Given the description of an element on the screen output the (x, y) to click on. 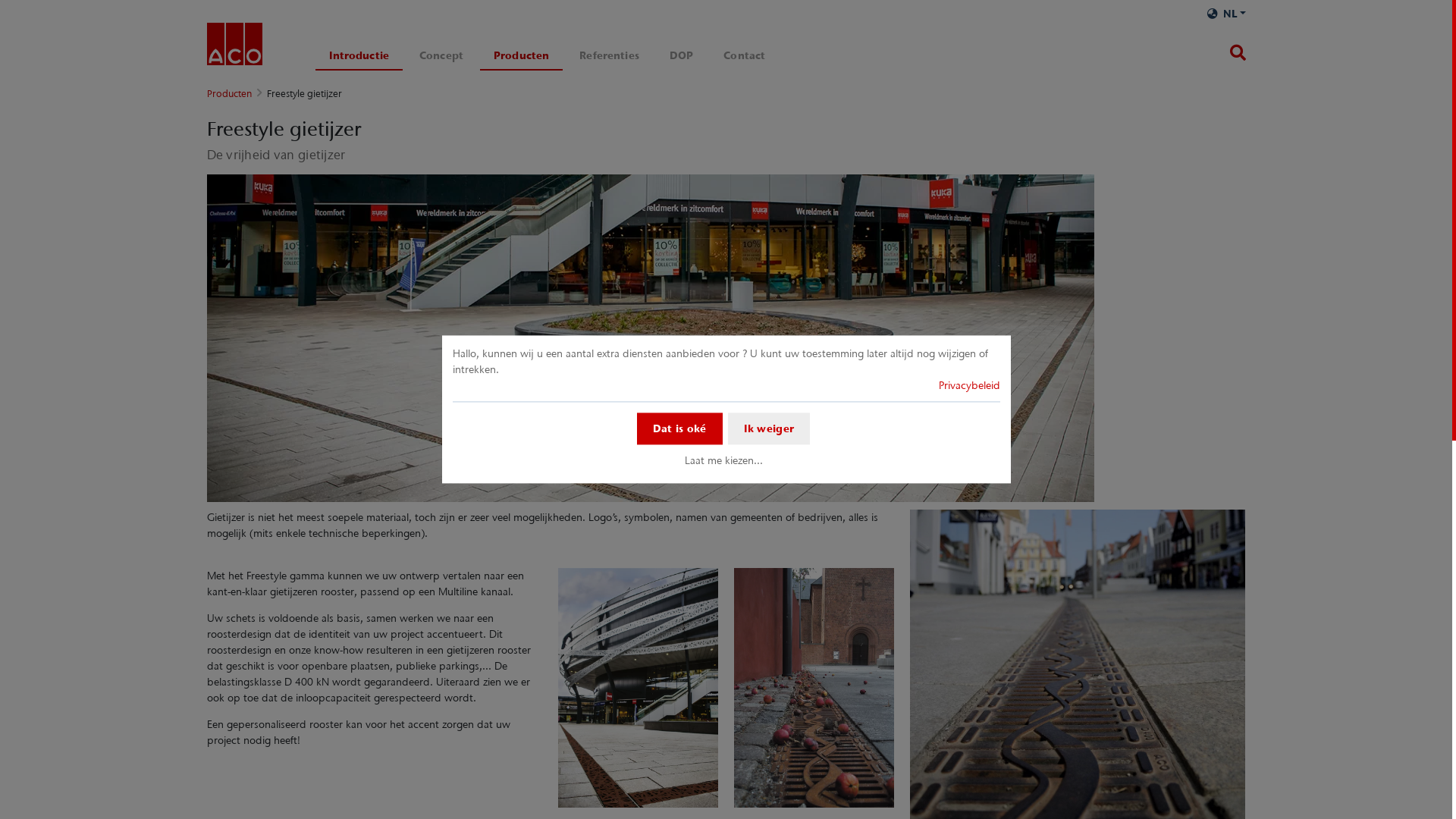
ACO Urban Design Element type: hover (233, 43)
Introductie Element type: text (359, 55)
Producten Element type: text (228, 93)
Producten Element type: text (521, 55)
Concept Element type: text (440, 55)
Privacybeleid Element type: text (969, 385)
NL Element type: text (1226, 13)
Ik weiger Element type: text (769, 428)
Contact Element type: text (743, 55)
ACO Urban Design Element type: hover (233, 46)
DOP Element type: text (680, 55)
Laat me kiezen... Element type: text (723, 460)
Referenties Element type: text (608, 55)
